Given the description of an element on the screen output the (x, y) to click on. 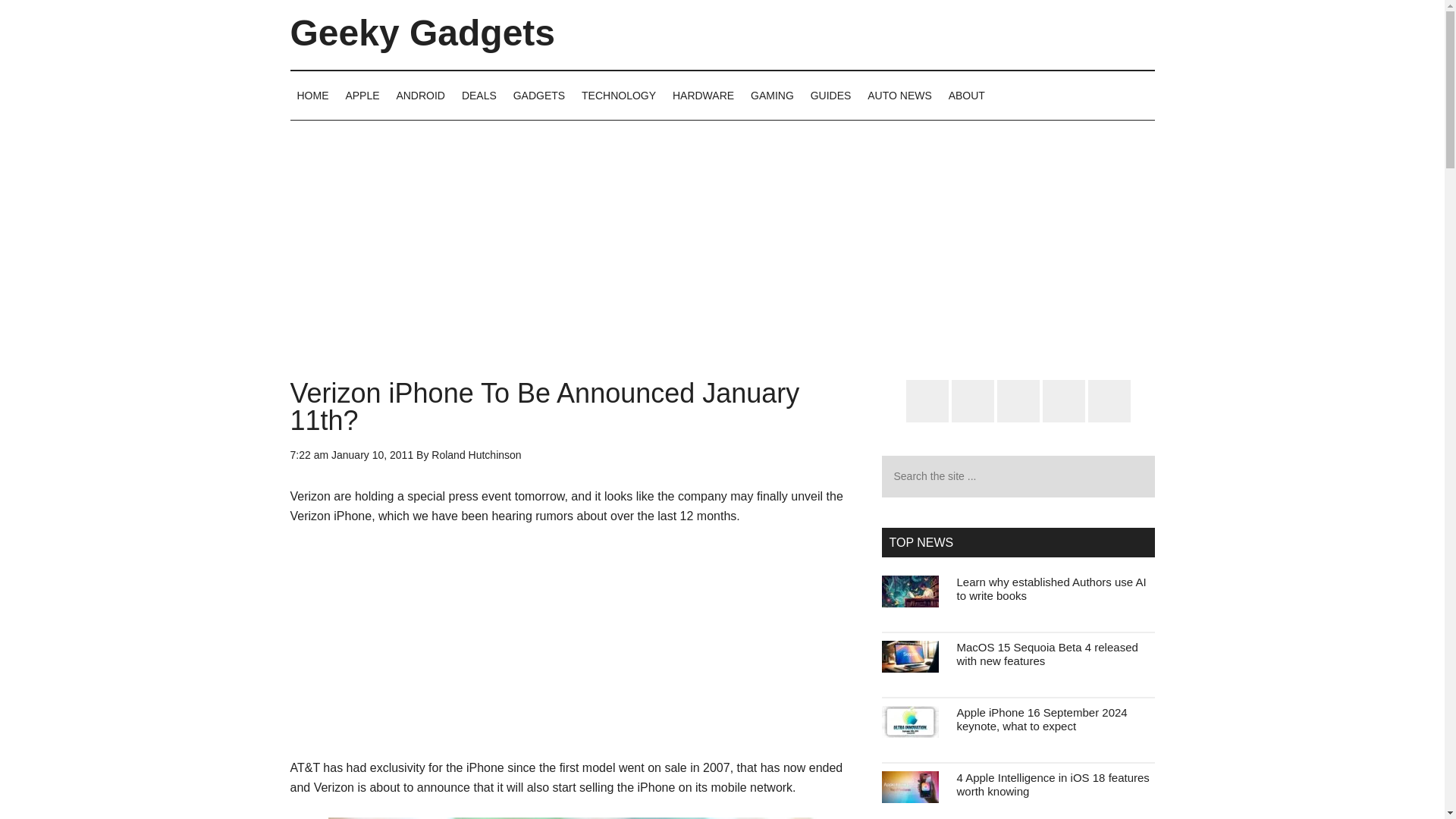
Apple iPhone 16 September 2024 keynote, what to expect (1041, 718)
AUTO NEWS (899, 95)
MacOS 15 Sequoia Beta 4 released with new features (1047, 653)
GUIDES (831, 95)
Roland Hutchinson (475, 454)
About Geeky Gadgets (966, 95)
Geeky Gadgets (421, 33)
ABOUT (966, 95)
DEALS (478, 95)
GADGETS (539, 95)
HARDWARE (703, 95)
HOME (311, 95)
4 Apple Intelligence in iOS 18 features worth knowing (1053, 784)
